Given the description of an element on the screen output the (x, y) to click on. 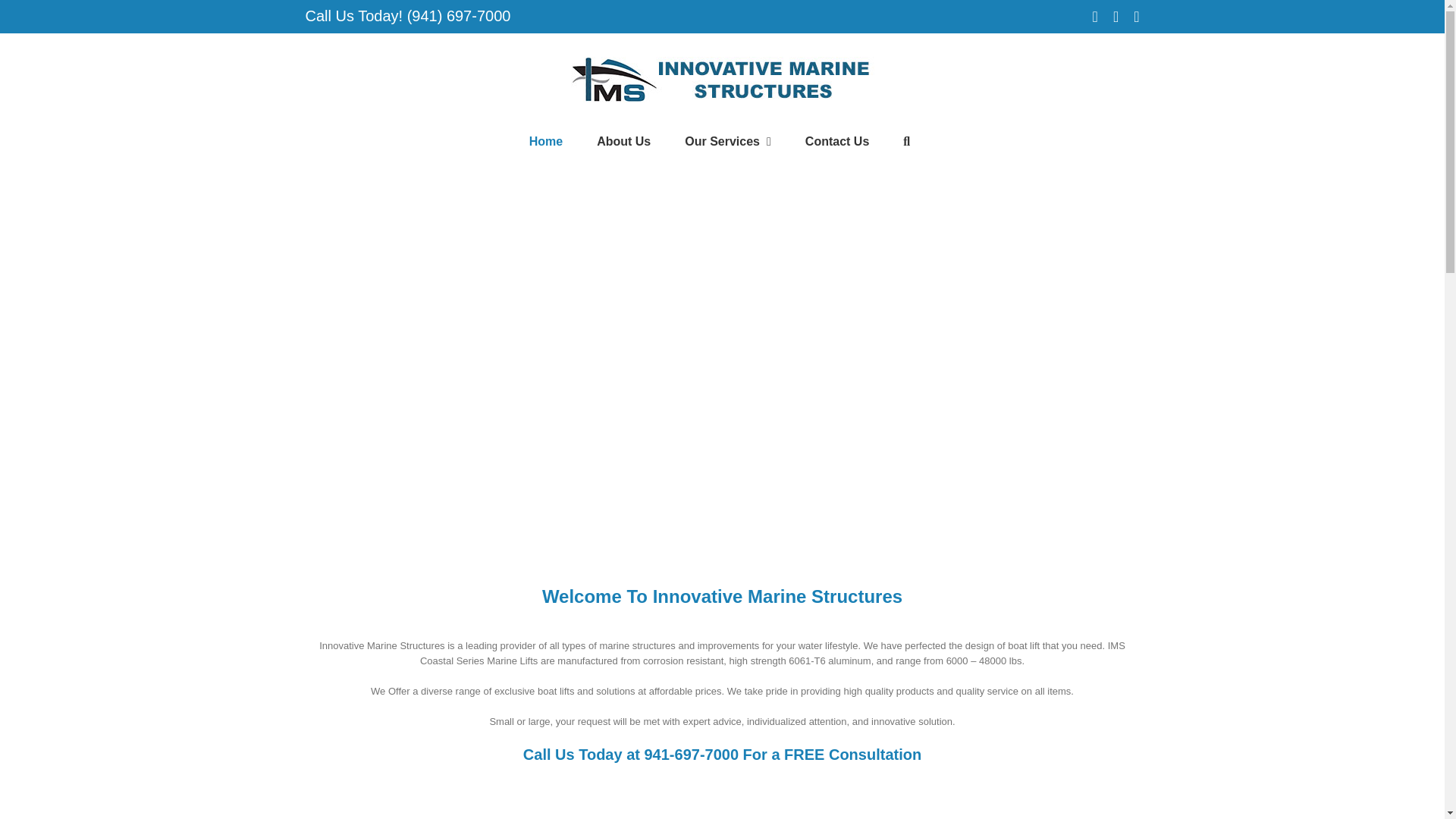
About Us (623, 141)
Contact Us (837, 141)
Our Services (727, 141)
Home (545, 141)
